Given the description of an element on the screen output the (x, y) to click on. 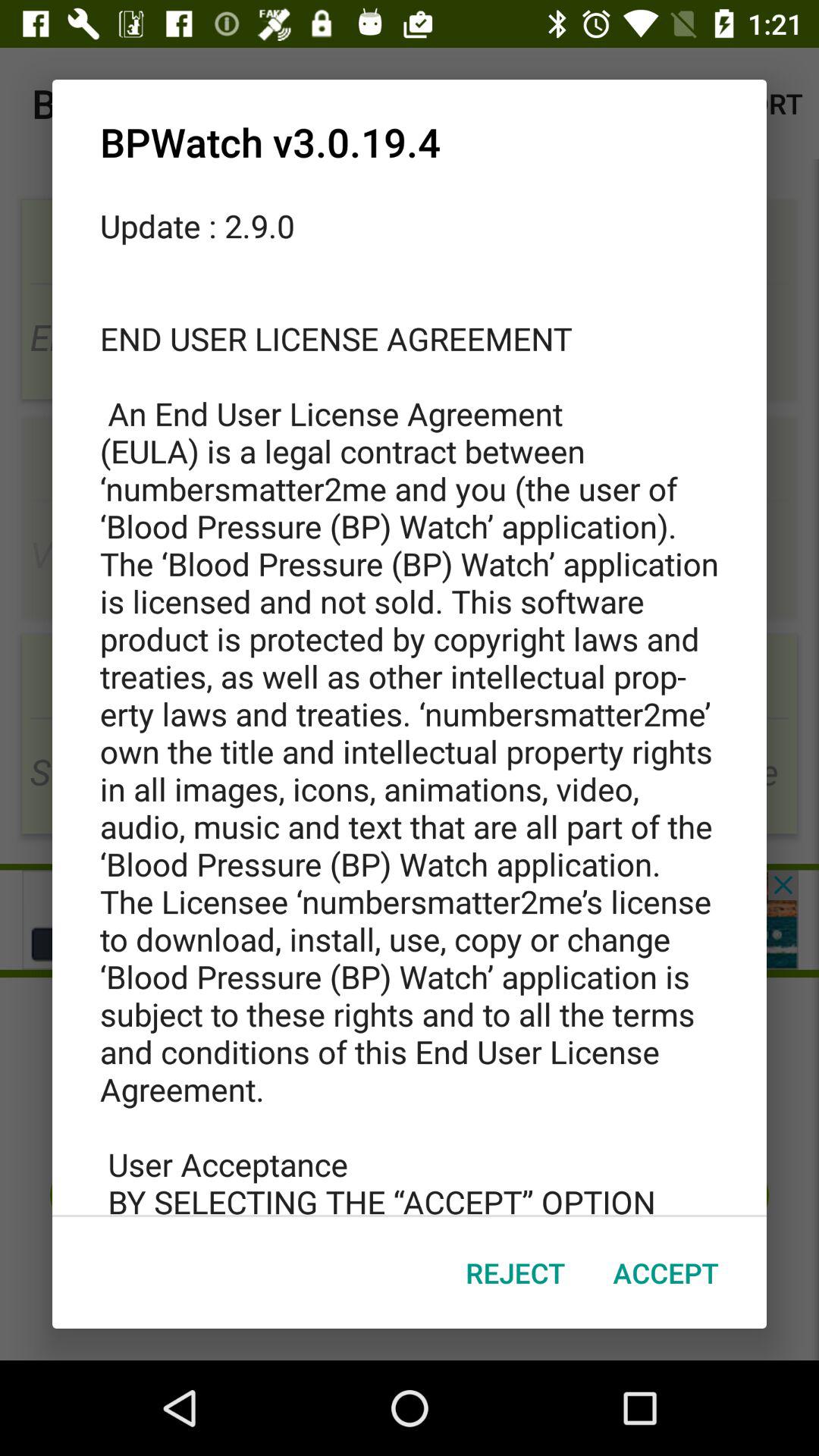
launch the accept item (665, 1272)
